Given the description of an element on the screen output the (x, y) to click on. 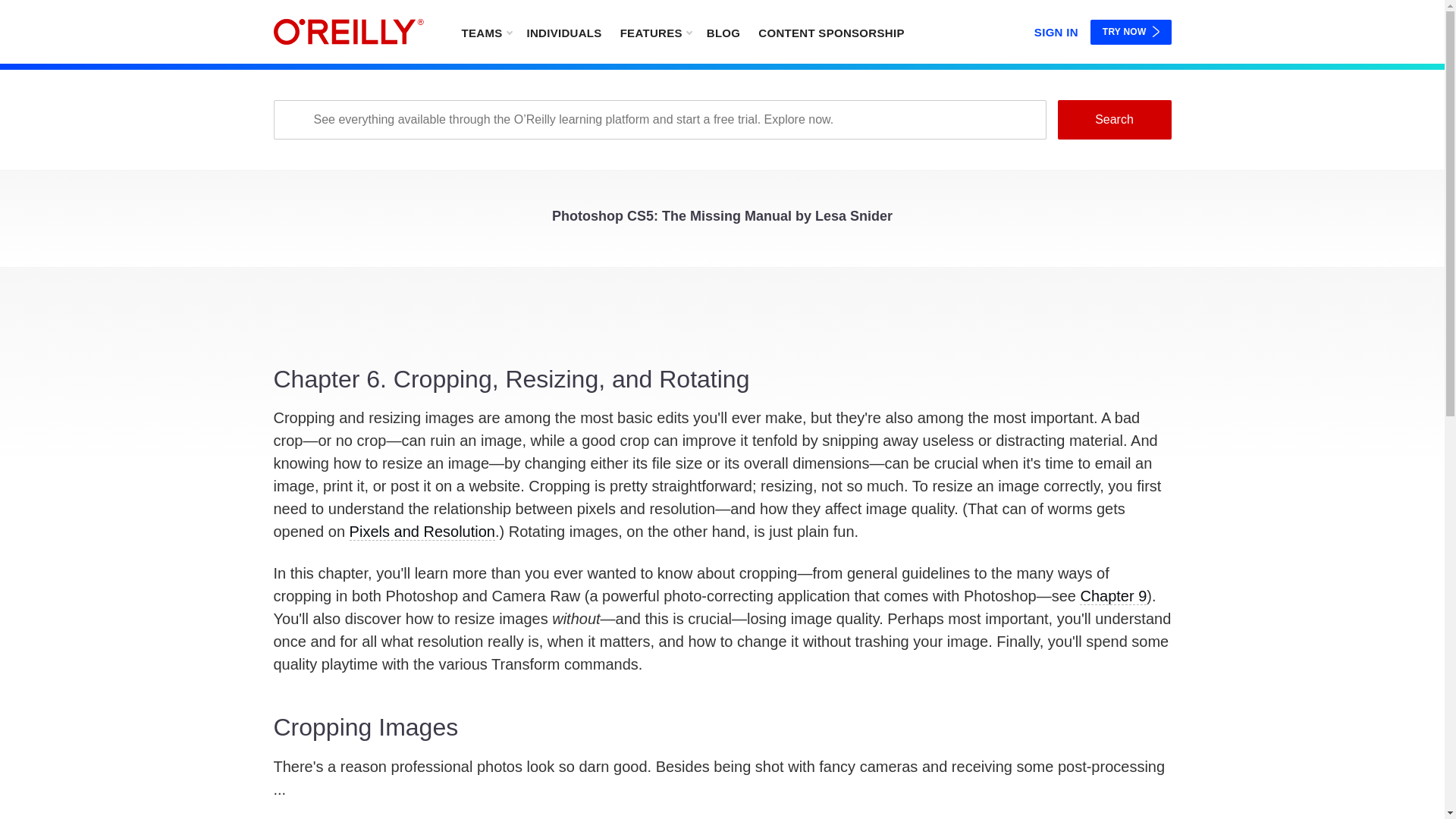
SIGN IN (1055, 29)
Cropping Images (721, 755)
Pixels and Resolution (422, 531)
CONTENT SPONSORSHIP (831, 31)
TRY NOW (1131, 32)
BLOG (723, 31)
home page (348, 31)
FEATURES (655, 31)
